Given the description of an element on the screen output the (x, y) to click on. 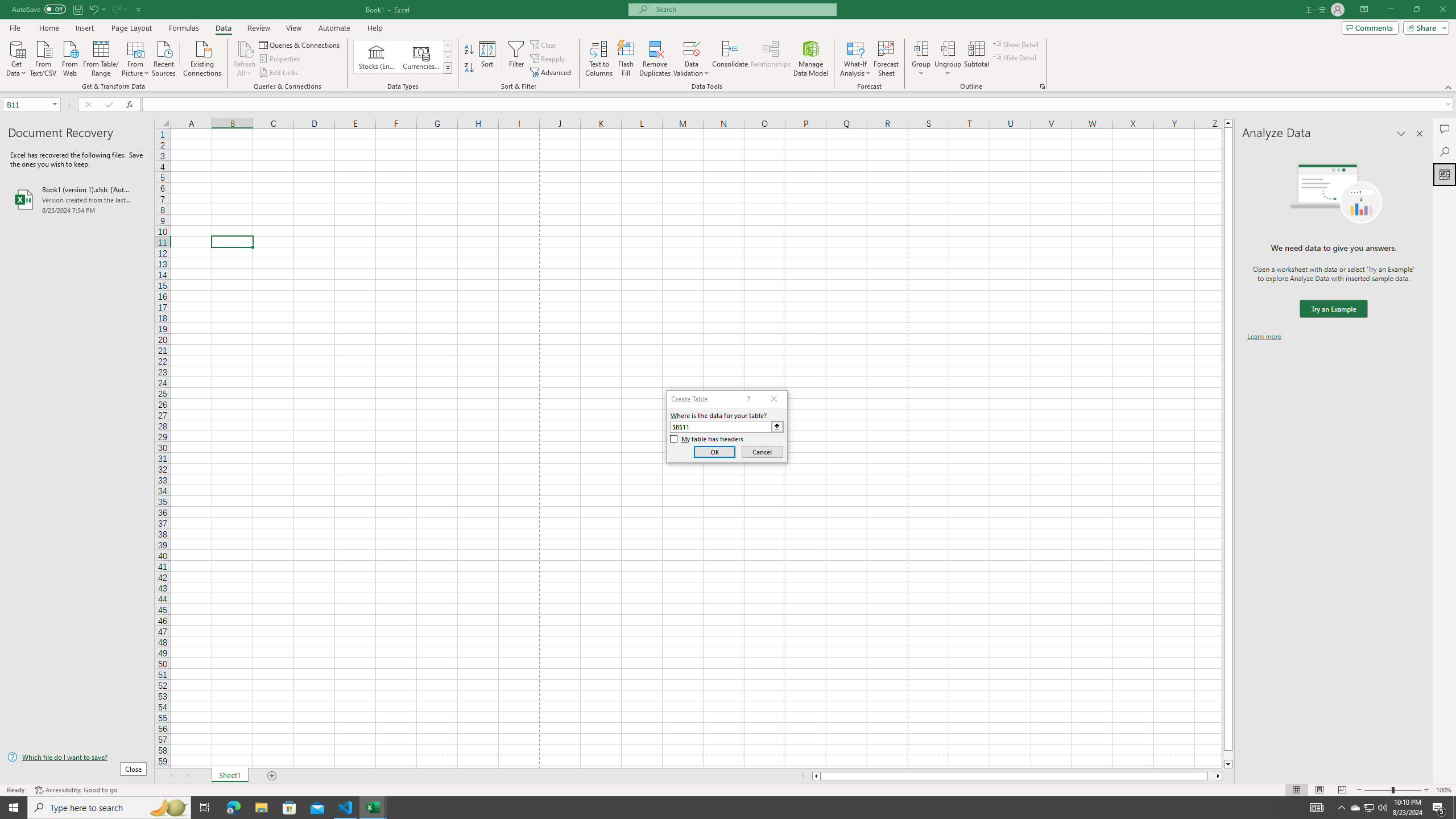
Scroll Left (171, 775)
Redo (115, 9)
Restore Down (1416, 9)
File Tab (15, 27)
System (6, 6)
Learn more (1264, 336)
Share (1423, 27)
Group and Outline Settings (1042, 85)
Insert (83, 28)
Group... (921, 48)
Data Types (448, 67)
Column left (815, 775)
Data (223, 28)
Microsoft search (742, 9)
Line up (1228, 122)
